Given the description of an element on the screen output the (x, y) to click on. 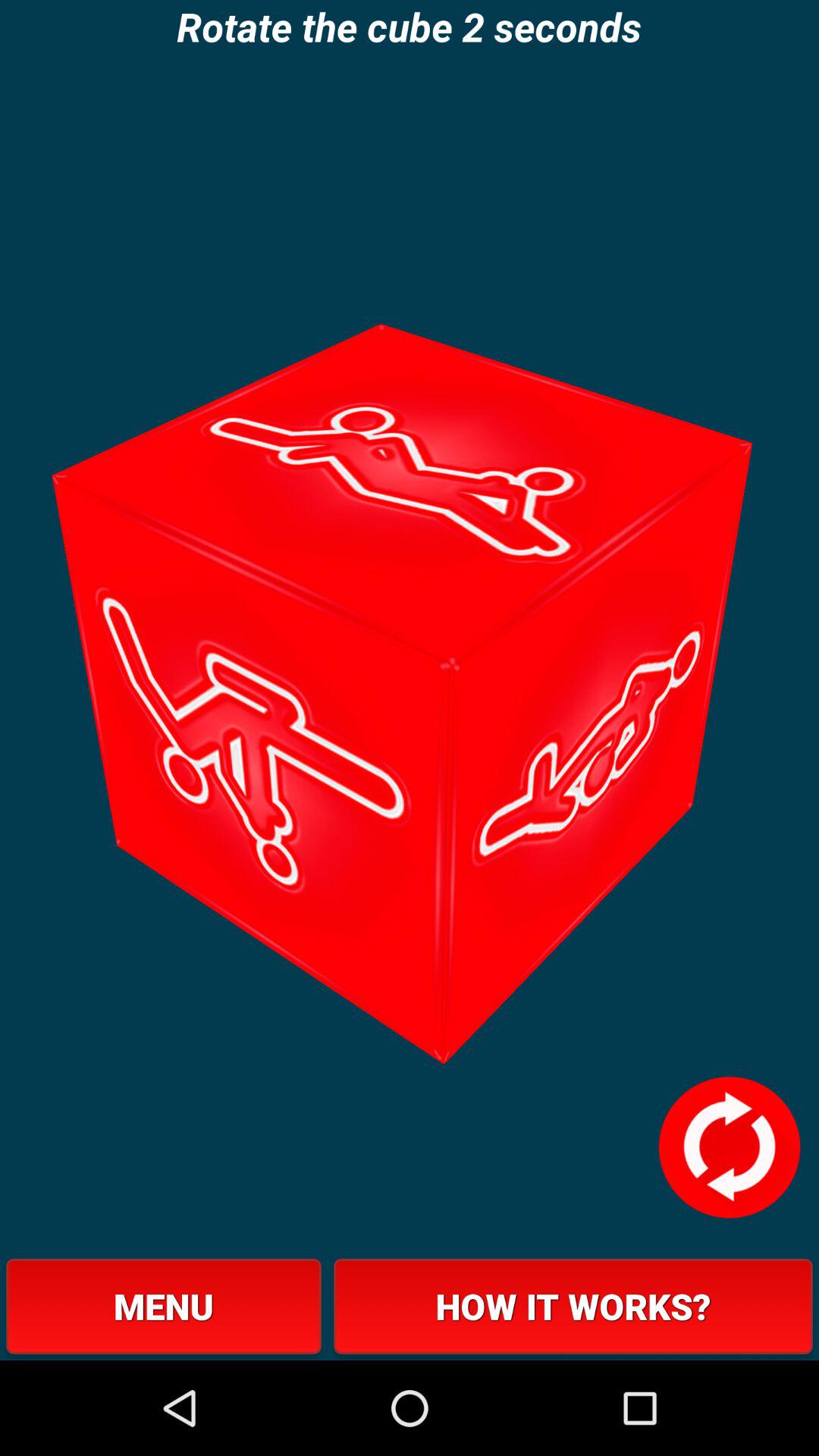
refresh (728, 1147)
